Given the description of an element on the screen output the (x, y) to click on. 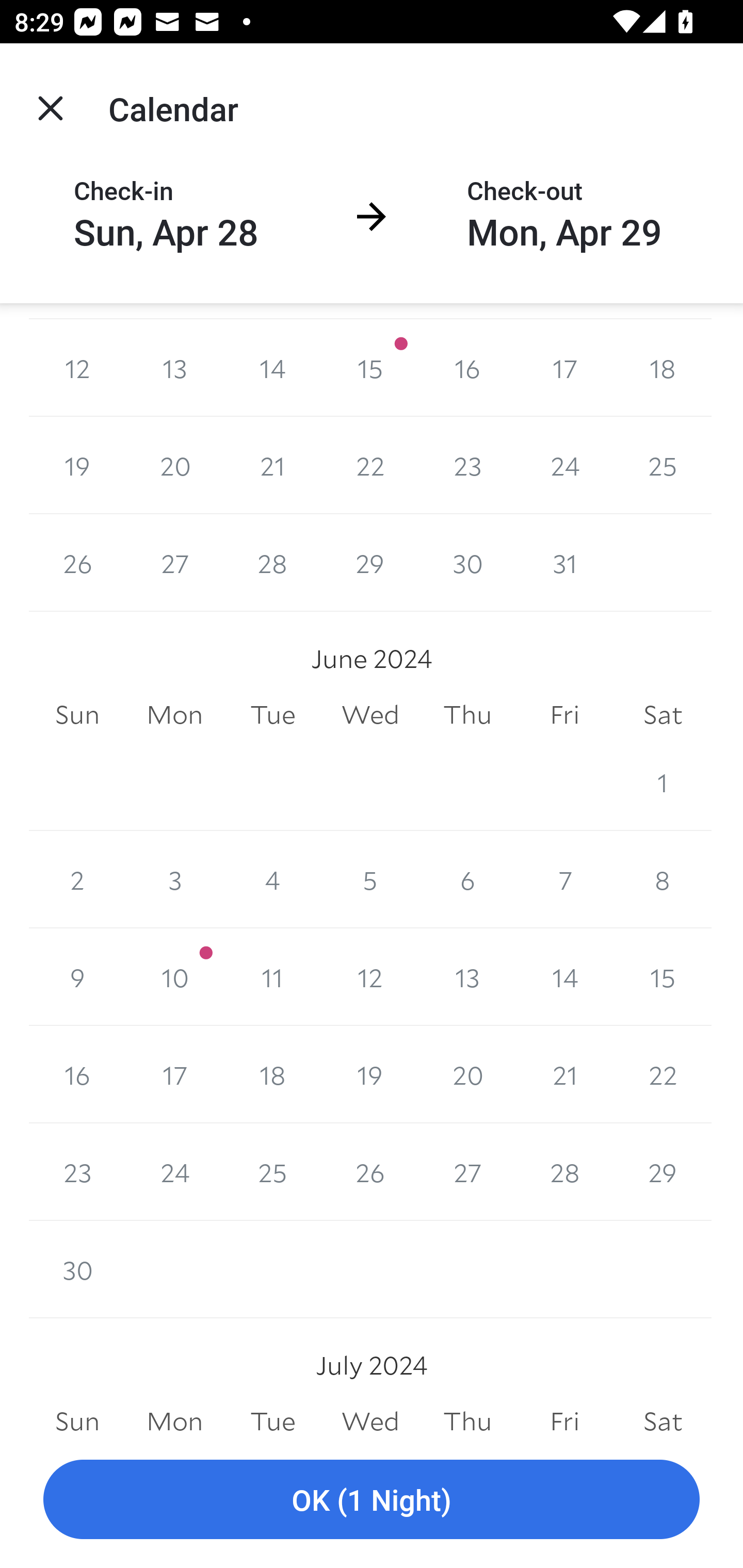
12 12 May 2024 (77, 368)
13 13 May 2024 (174, 368)
14 14 May 2024 (272, 368)
15 15 May 2024 (370, 368)
16 16 May 2024 (467, 368)
17 17 May 2024 (564, 368)
18 18 May 2024 (662, 368)
19 19 May 2024 (77, 465)
20 20 May 2024 (174, 465)
21 21 May 2024 (272, 465)
22 22 May 2024 (370, 465)
23 23 May 2024 (467, 465)
24 24 May 2024 (564, 465)
25 25 May 2024 (662, 465)
26 26 May 2024 (77, 562)
27 27 May 2024 (174, 562)
28 28 May 2024 (272, 562)
29 29 May 2024 (370, 562)
30 30 May 2024 (467, 562)
31 31 May 2024 (564, 562)
Sun (77, 714)
Mon (174, 714)
Tue (272, 714)
Wed (370, 714)
Thu (467, 714)
Fri (564, 714)
Sat (662, 714)
1 1 June 2024 (662, 782)
2 2 June 2024 (77, 879)
3 3 June 2024 (174, 879)
4 4 June 2024 (272, 879)
5 5 June 2024 (370, 879)
6 6 June 2024 (467, 879)
7 7 June 2024 (564, 879)
8 8 June 2024 (662, 879)
9 9 June 2024 (77, 976)
10 10 June 2024 (174, 976)
11 11 June 2024 (272, 976)
12 12 June 2024 (370, 976)
13 13 June 2024 (467, 976)
14 14 June 2024 (564, 976)
15 15 June 2024 (662, 976)
16 16 June 2024 (77, 1073)
17 17 June 2024 (174, 1073)
18 18 June 2024 (272, 1073)
19 19 June 2024 (370, 1073)
20 20 June 2024 (467, 1073)
21 21 June 2024 (564, 1073)
22 22 June 2024 (662, 1073)
23 23 June 2024 (77, 1171)
24 24 June 2024 (174, 1171)
25 25 June 2024 (272, 1171)
26 26 June 2024 (370, 1171)
27 27 June 2024 (467, 1171)
28 28 June 2024 (564, 1171)
29 29 June 2024 (662, 1171)
30 30 June 2024 (77, 1269)
Sun (77, 1416)
Mon (174, 1416)
Tue (272, 1416)
Wed (370, 1416)
Thu (467, 1416)
Fri (564, 1416)
Sat (662, 1416)
OK (1 Night) (371, 1499)
